Given the description of an element on the screen output the (x, y) to click on. 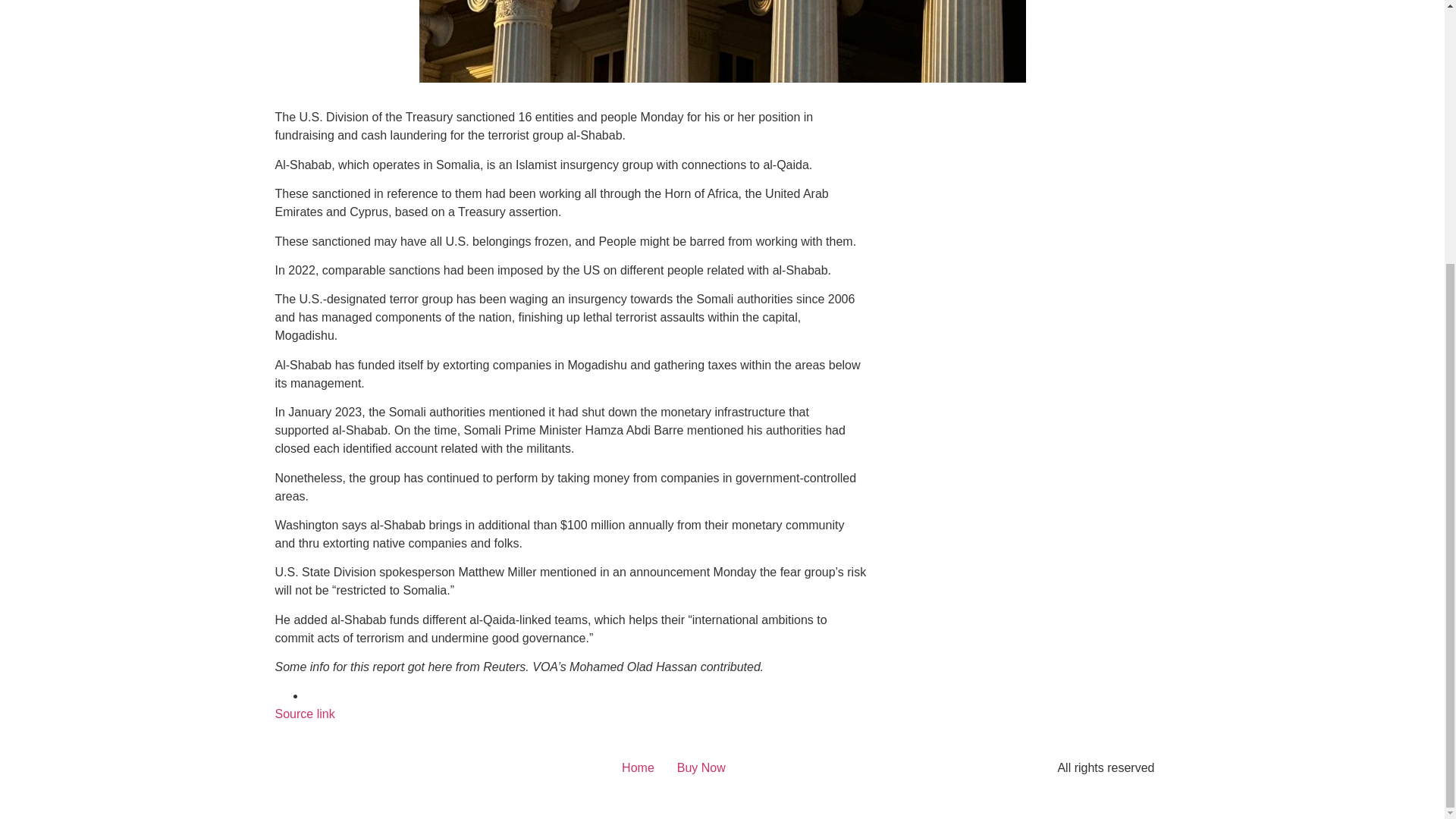
Buy Now (700, 768)
Source link (304, 713)
Advertisement (1007, 203)
Home (637, 768)
